Given the description of an element on the screen output the (x, y) to click on. 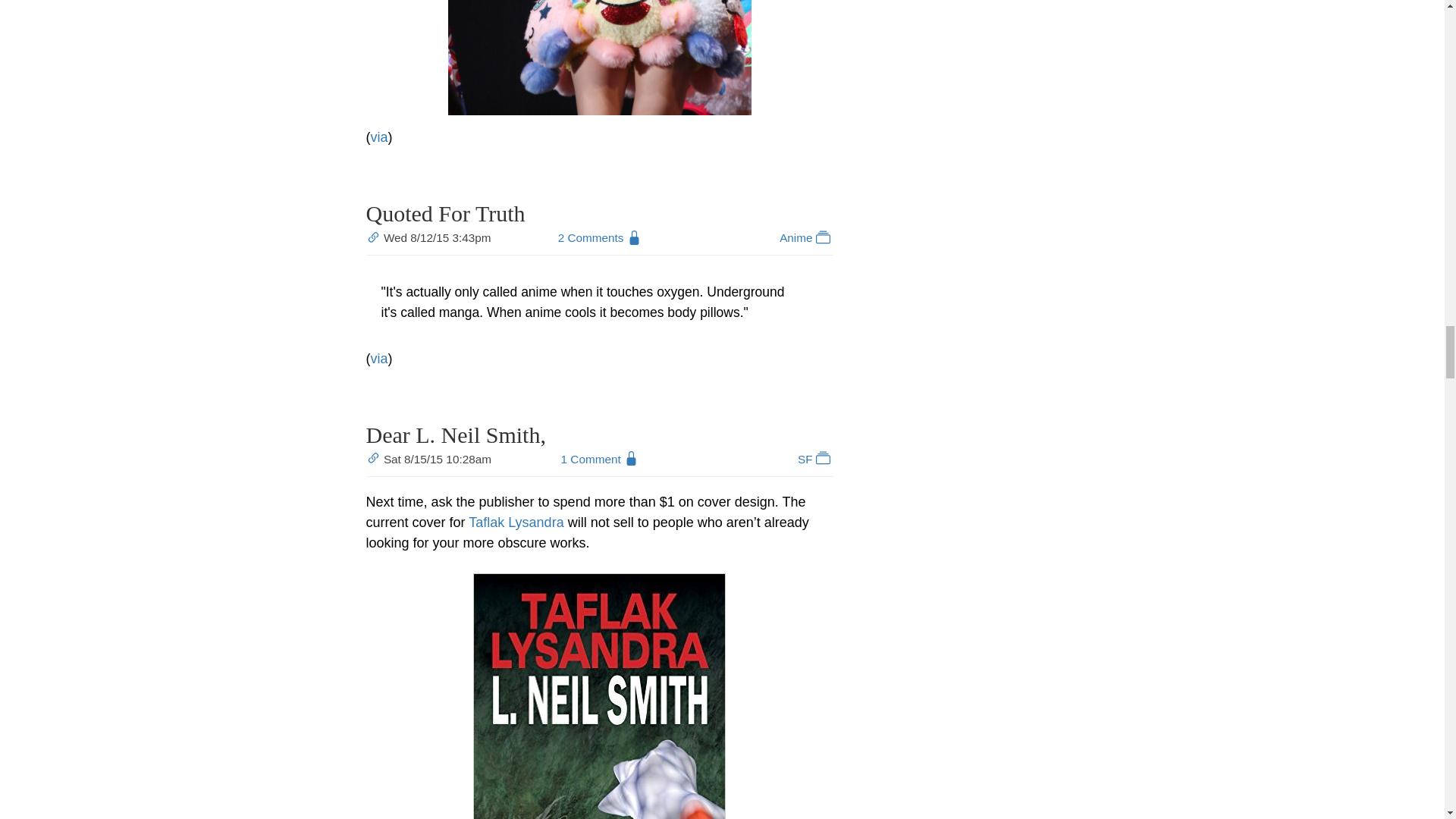
Anime   (805, 237)
2 Comments (590, 237)
via (378, 136)
via (378, 358)
